Given the description of an element on the screen output the (x, y) to click on. 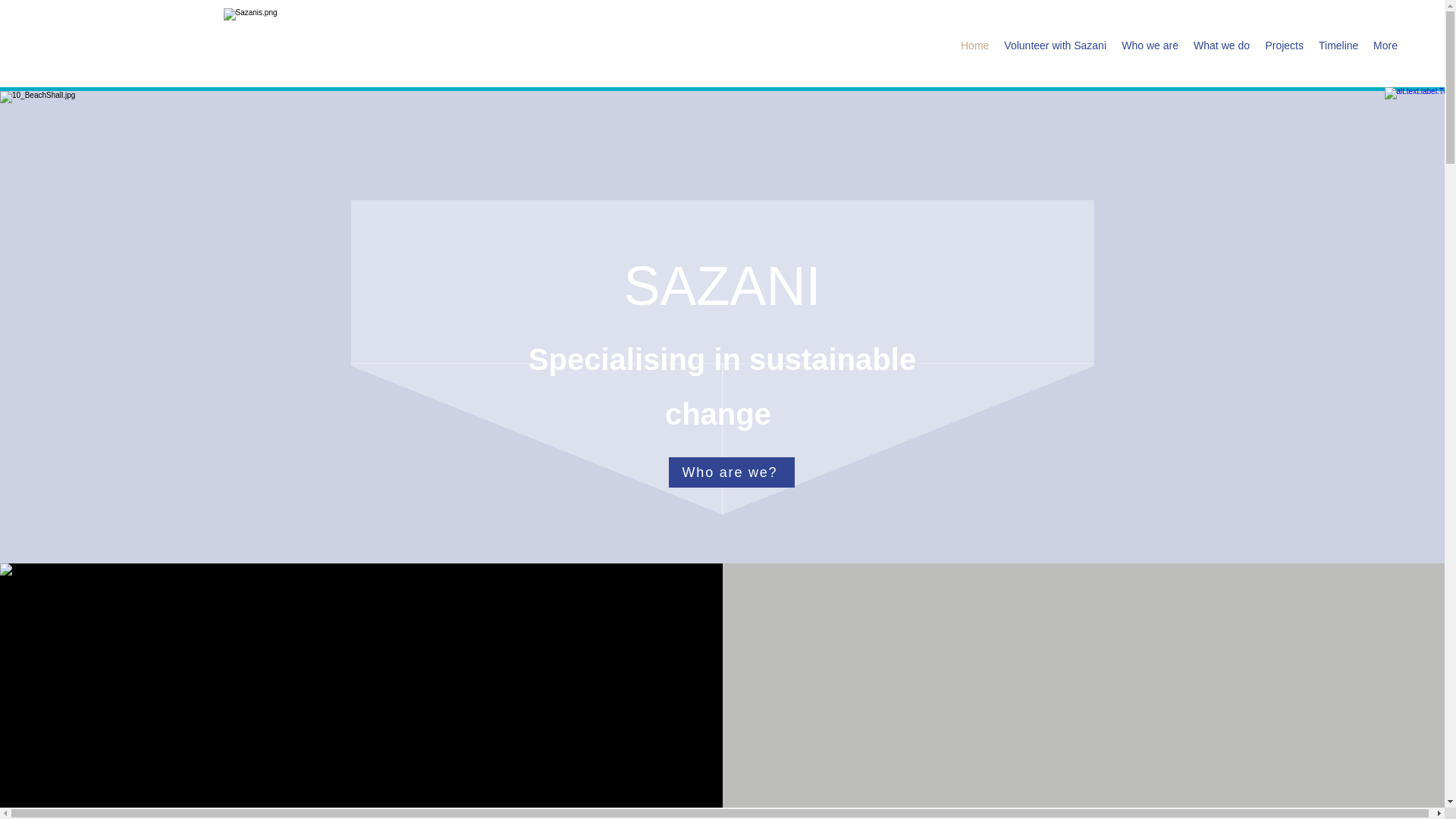
Who we are (1149, 45)
Volunteer with Sazani (1054, 45)
Timeline (1338, 45)
Projects (1284, 45)
Home (974, 45)
What we do (1221, 45)
